Given the description of an element on the screen output the (x, y) to click on. 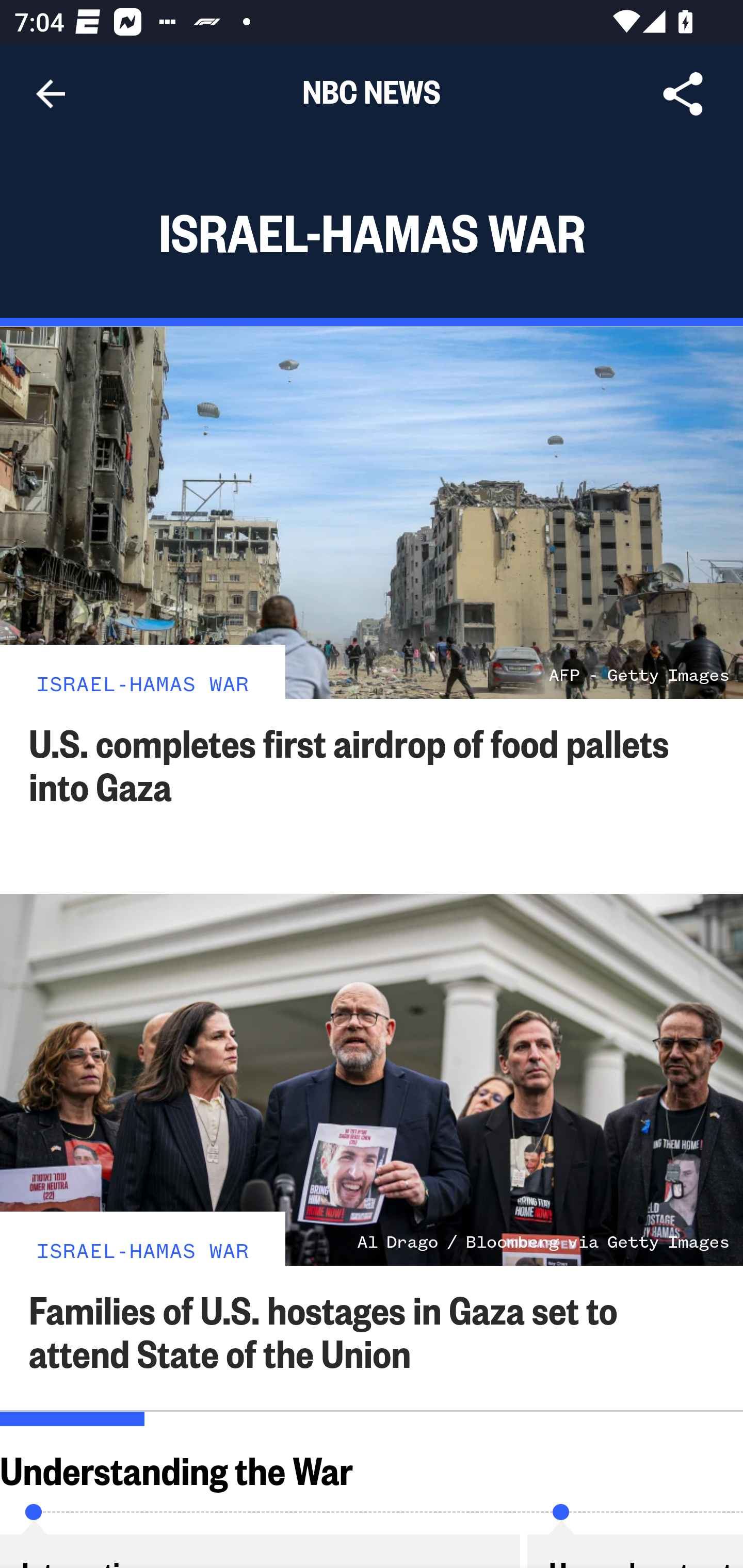
Navigate up (50, 93)
Share Article, button (683, 94)
ISRAEL-HAMAS WAR (142, 682)
ISRAEL-HAMAS WAR (142, 1249)
